Given the description of an element on the screen output the (x, y) to click on. 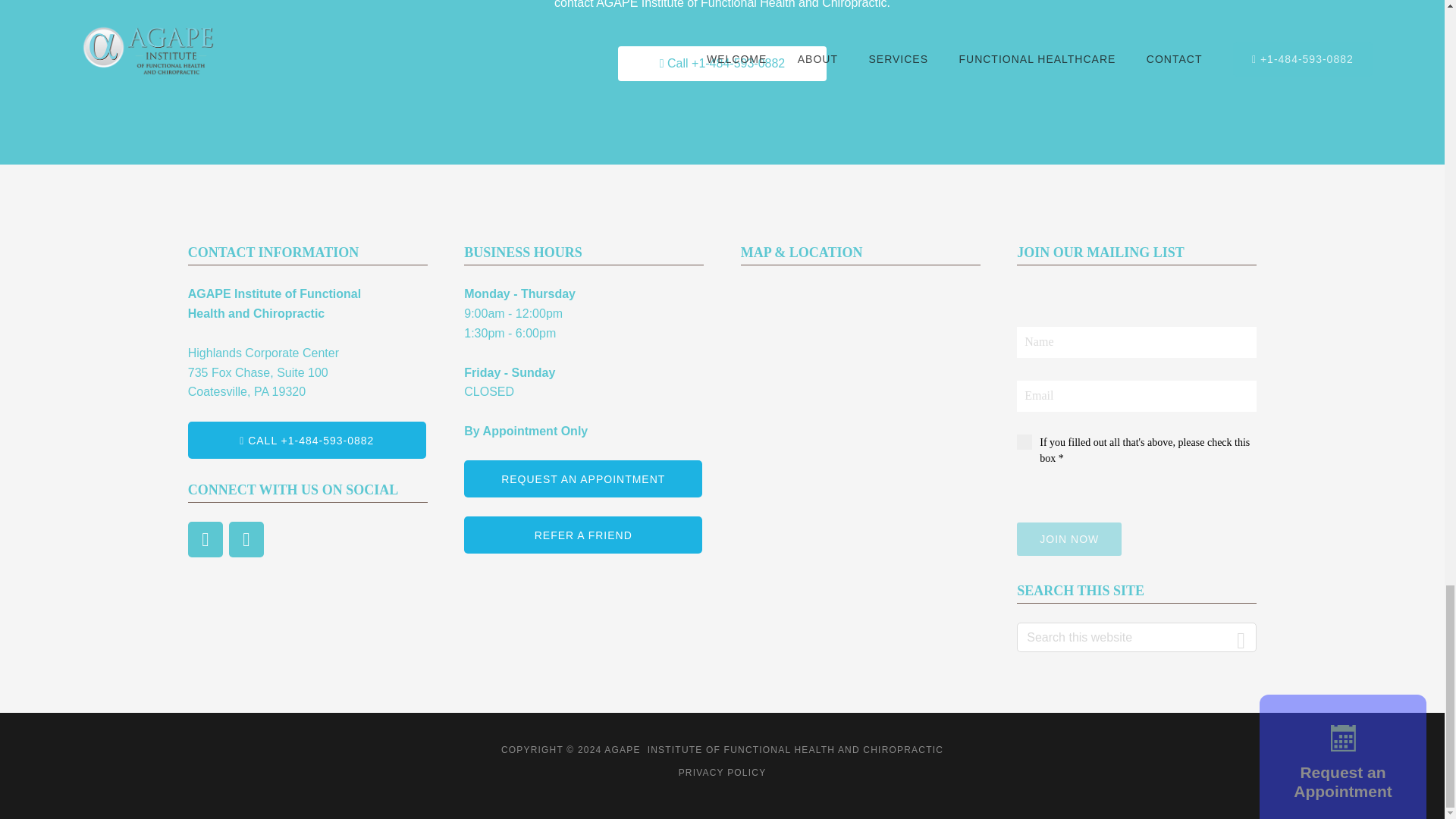
REQUEST AN APPOINTMENT (582, 478)
Search (1240, 636)
Search (1240, 636)
